Given the description of an element on the screen output the (x, y) to click on. 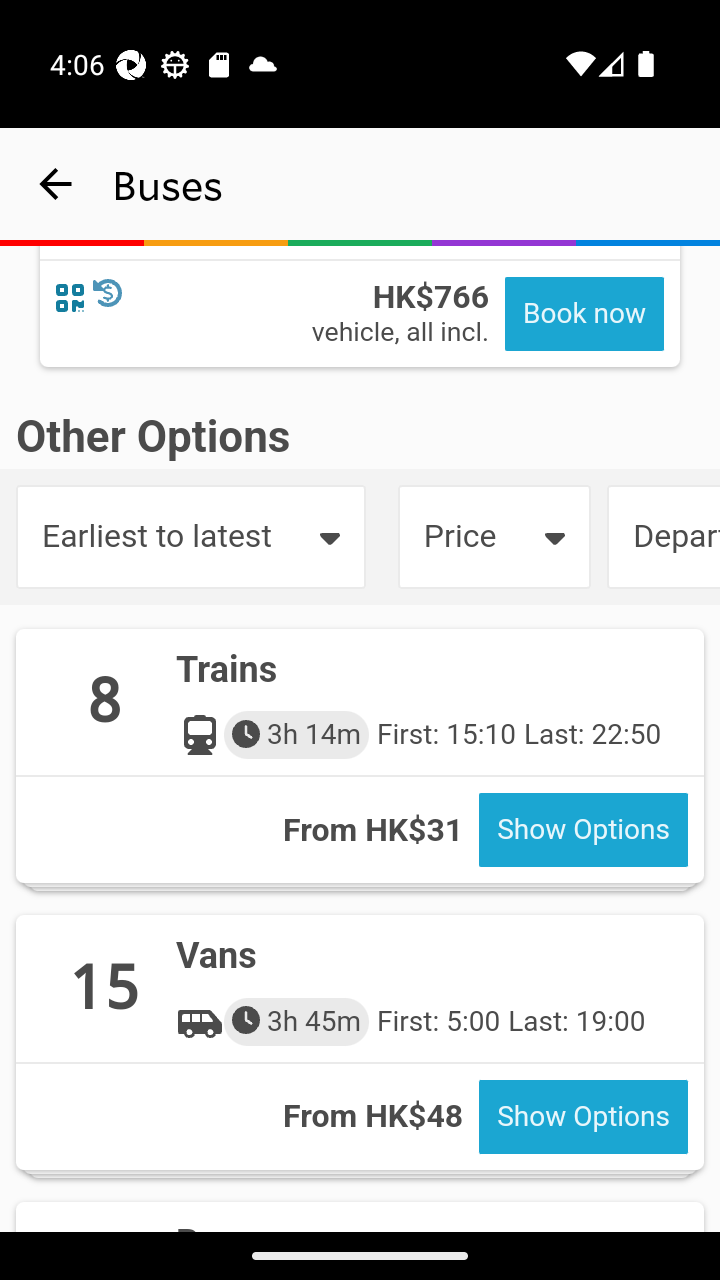
navigation_button (56, 184)
Earliest to latest (190, 538)
Price (493, 538)
Departure (663, 538)
Show Options (583, 831)
Show Options (583, 1117)
